Given the description of an element on the screen output the (x, y) to click on. 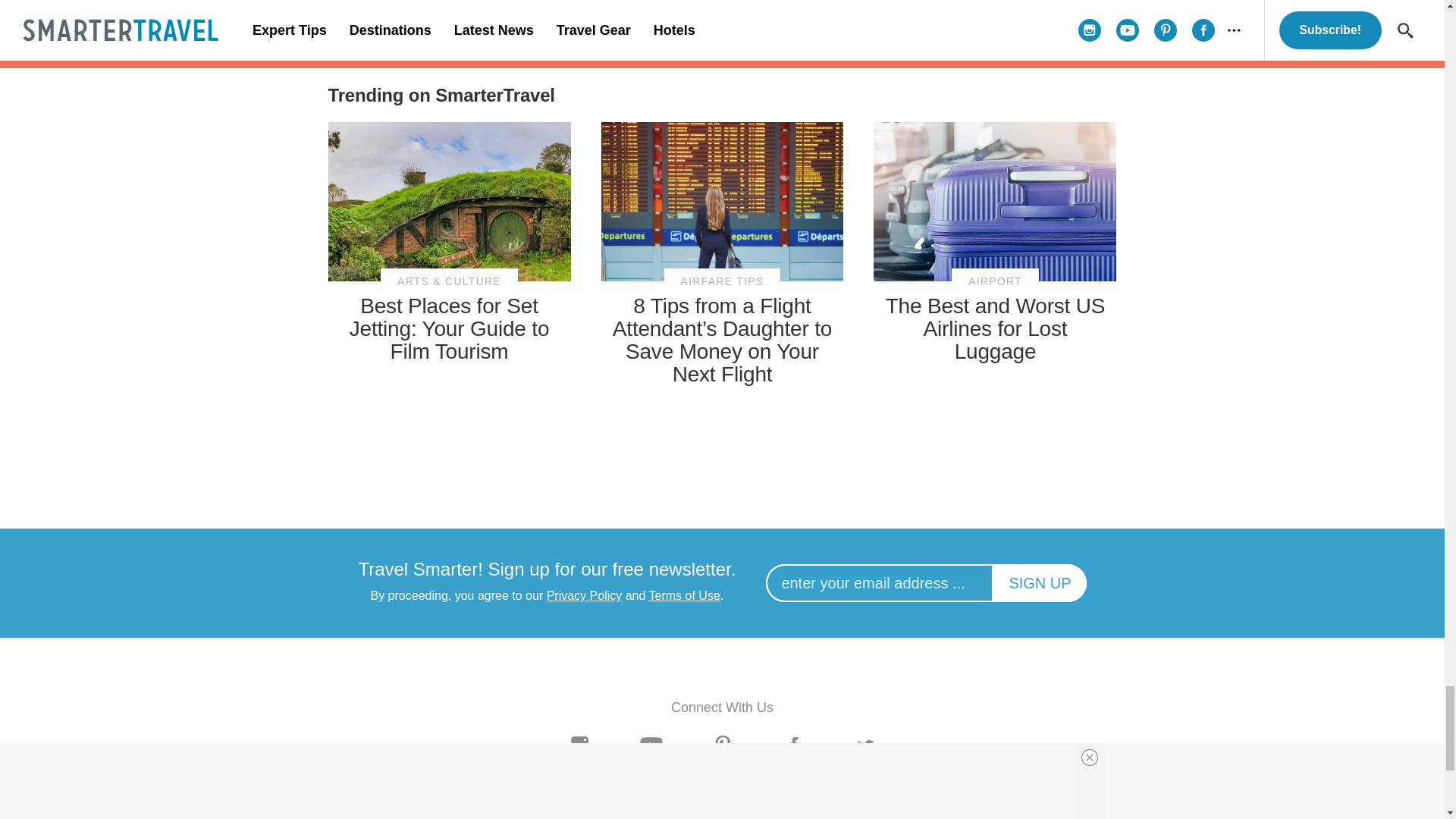
View all posts in Airfare Tips (721, 281)
View all posts in Airport (995, 281)
